Given the description of an element on the screen output the (x, y) to click on. 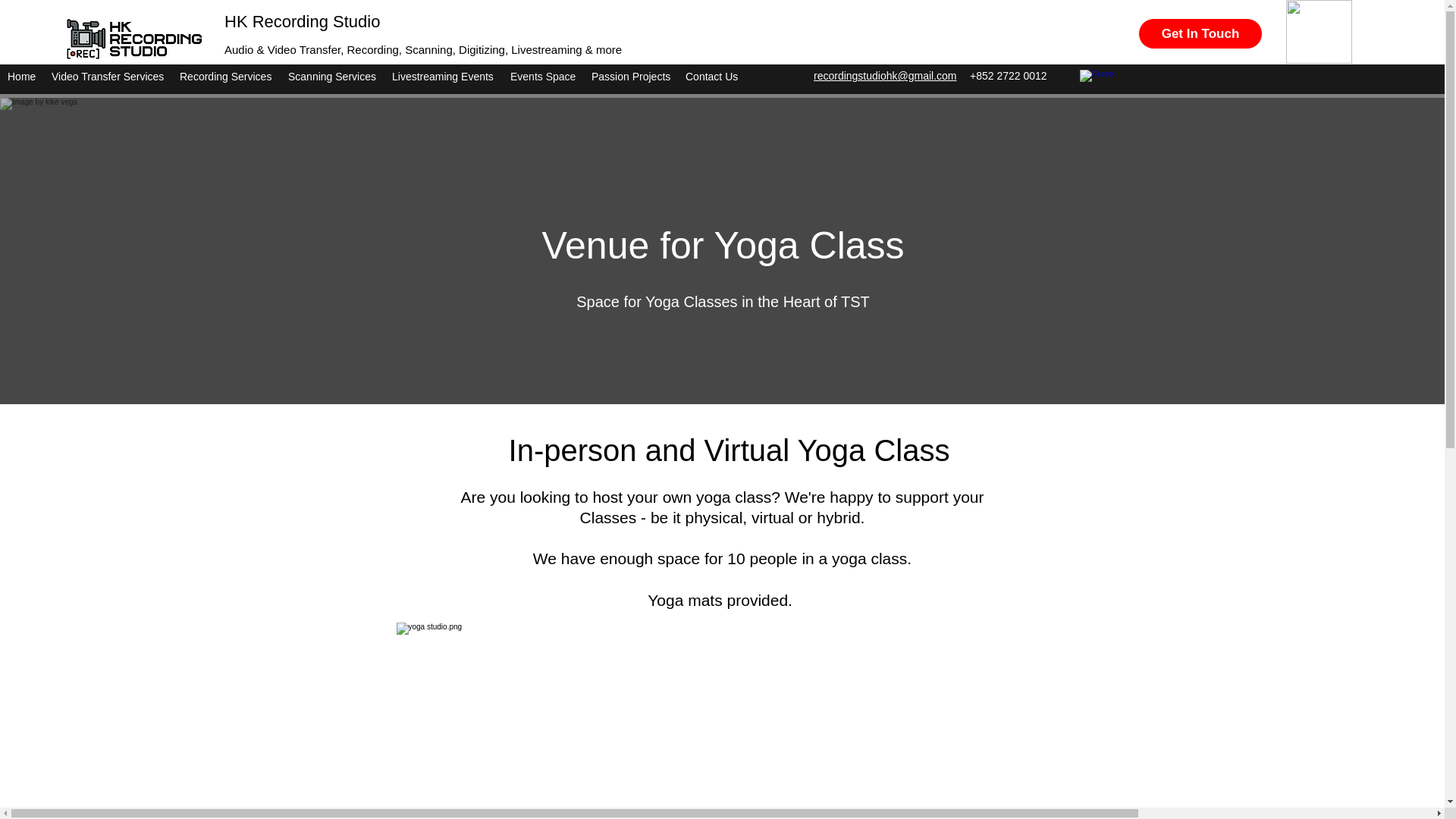
Home (21, 76)
HK Recording Studio (302, 21)
Video Transfer Services (107, 76)
Get In Touch (1200, 33)
Recording Services (226, 76)
whatsapp.gif (1318, 31)
